Given the description of an element on the screen output the (x, y) to click on. 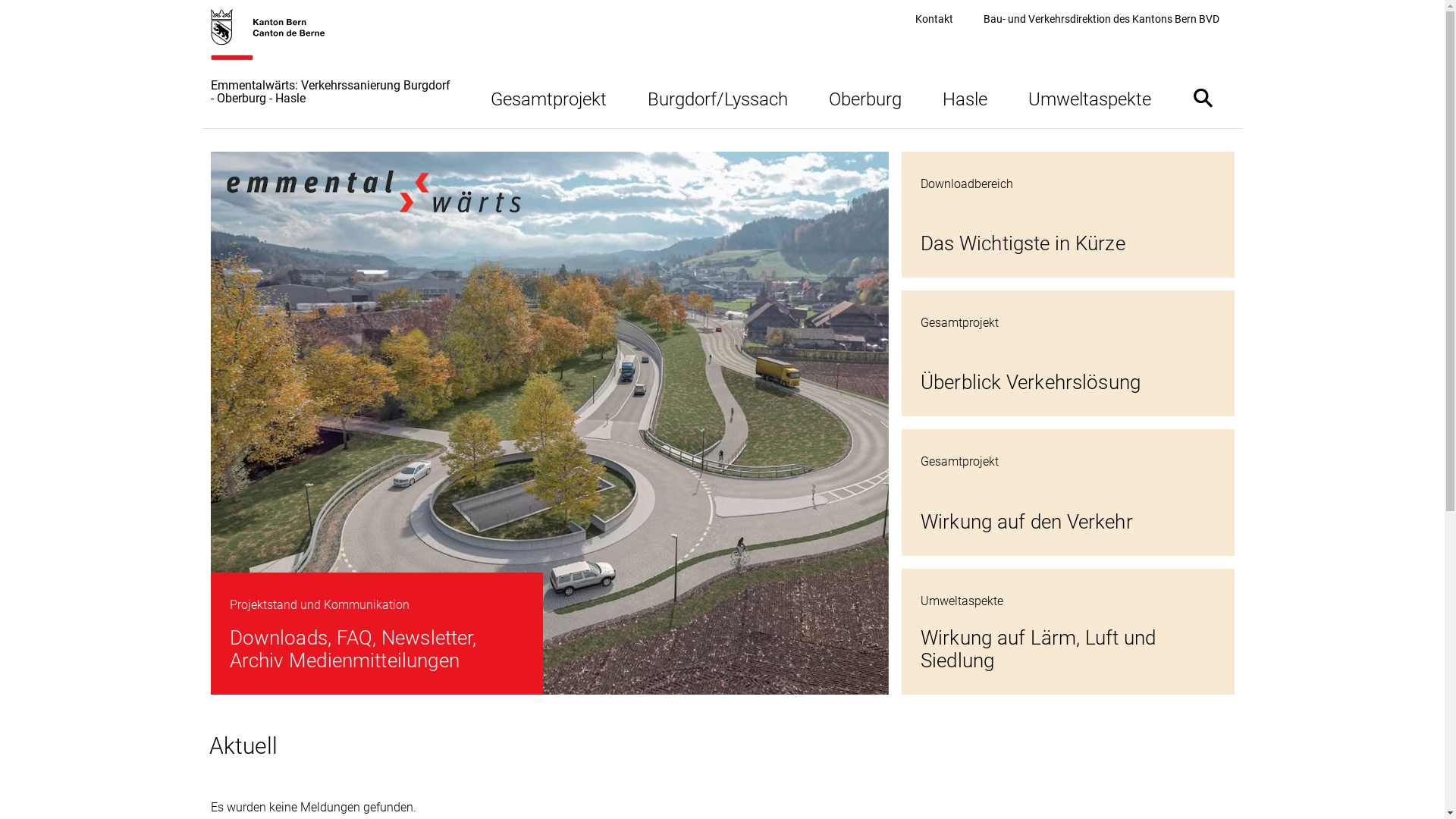
Kontakt Element type: text (934, 19)
Hasle Element type: text (964, 96)
Oberburg Element type: text (865, 96)
Bau- und Verkehrsdirektion des Kantons Bern BVD Element type: text (1101, 19)
Burgdorf/Lyssach Element type: text (716, 96)
Umweltaspekte Element type: text (1088, 96)
Gesamtprojekt Element type: text (548, 96)
Suche ein- oder ausblenden Element type: text (1201, 96)
Wirkung auf den Verkehr
Gesamtprojekt Element type: text (1067, 492)
